Given the description of an element on the screen output the (x, y) to click on. 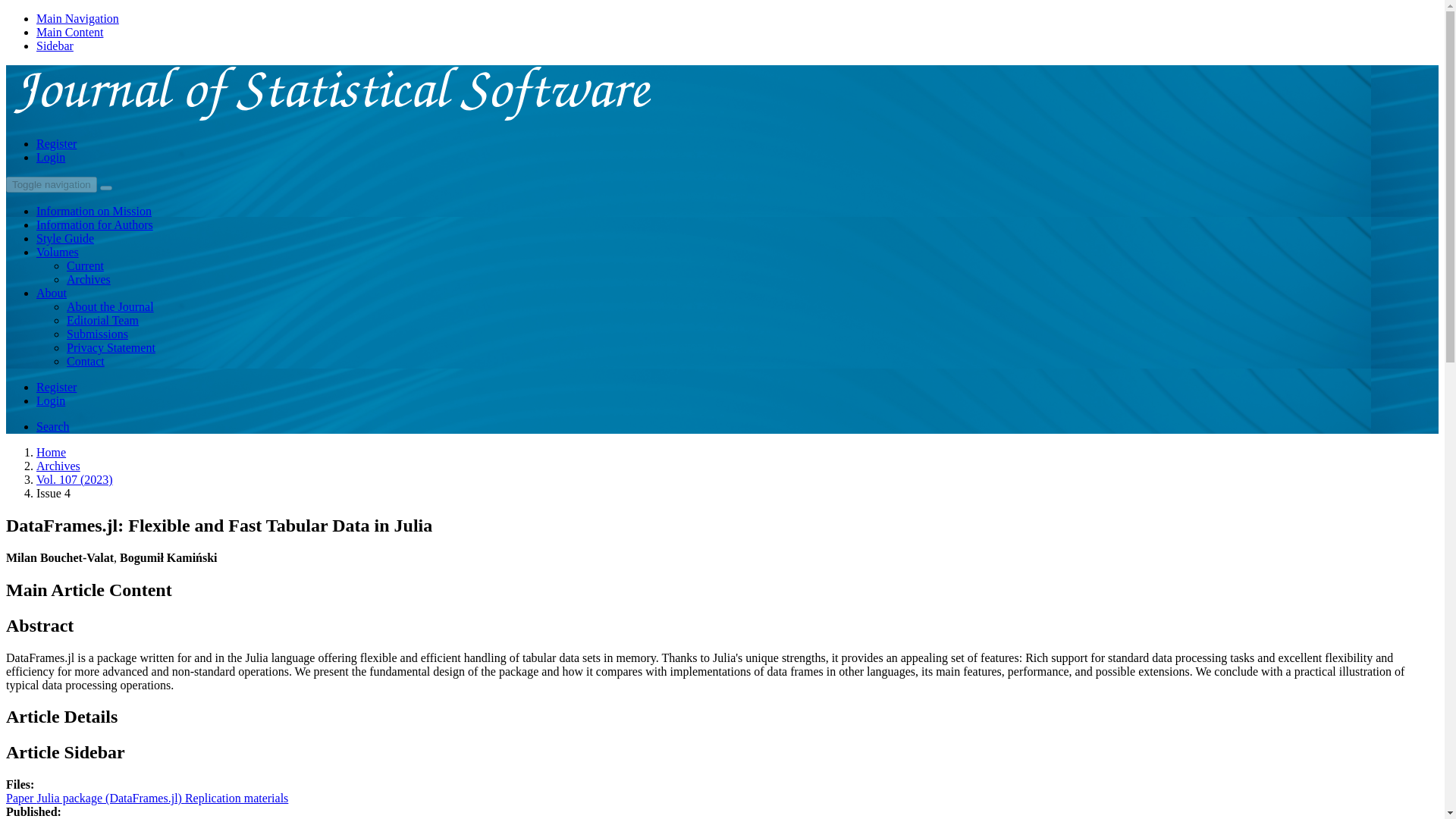
Login (50, 156)
Replication materials (236, 797)
Privacy Statement (110, 347)
Search (52, 426)
Paper (20, 797)
Volumes (57, 251)
Archives (88, 278)
Information for Authors (94, 224)
About (51, 292)
Main Content (69, 31)
Contact (85, 360)
Home (50, 451)
Information on Mission (93, 210)
Current (84, 265)
About the Journal (110, 306)
